Given the description of an element on the screen output the (x, y) to click on. 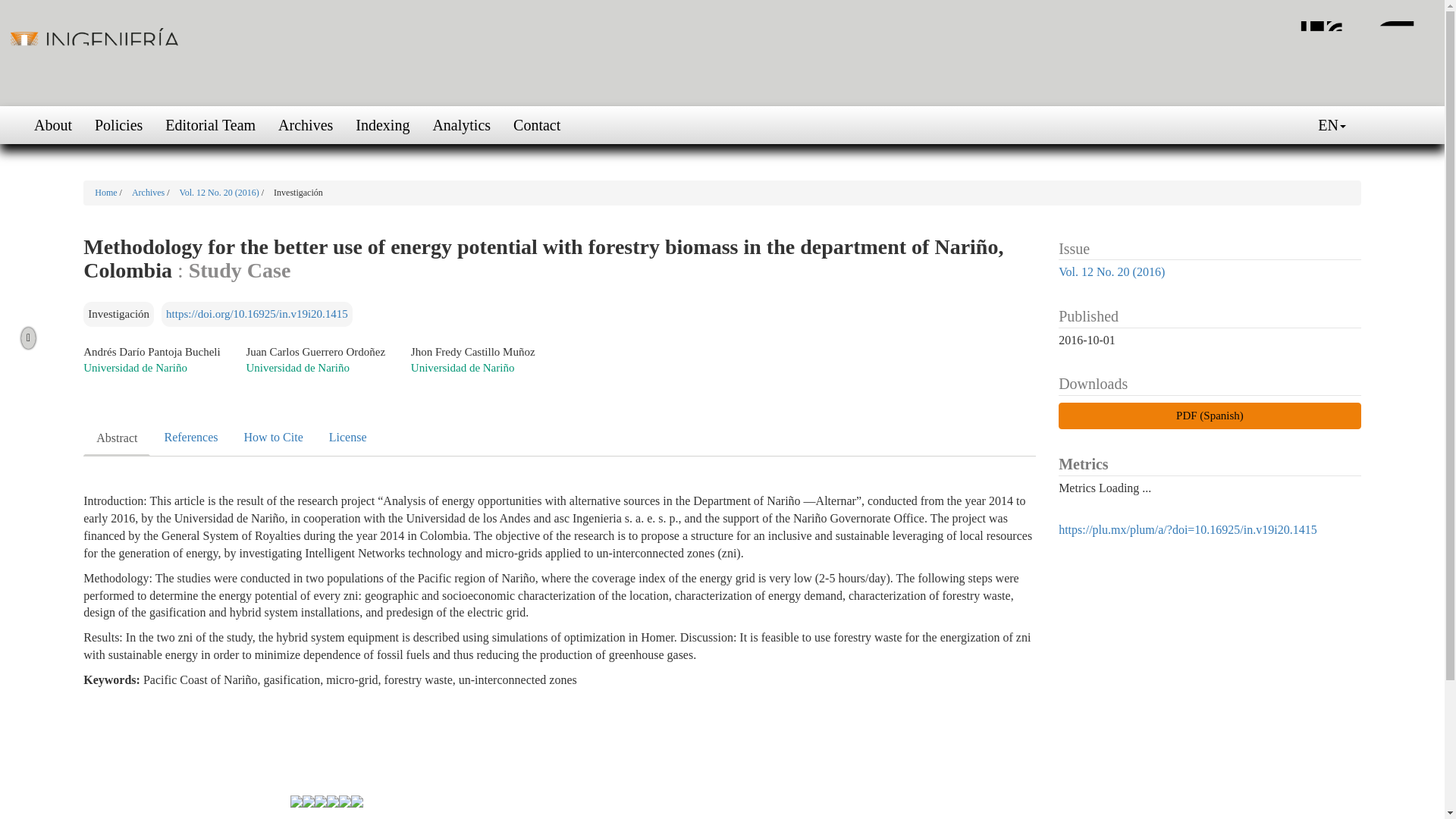
Policies (118, 125)
Editorial Team (210, 125)
Abstract (115, 437)
Archives (149, 192)
Home (106, 192)
Login (1413, 125)
EN (1331, 125)
License (347, 437)
Contact (537, 125)
Archives (304, 125)
